Given the description of an element on the screen output the (x, y) to click on. 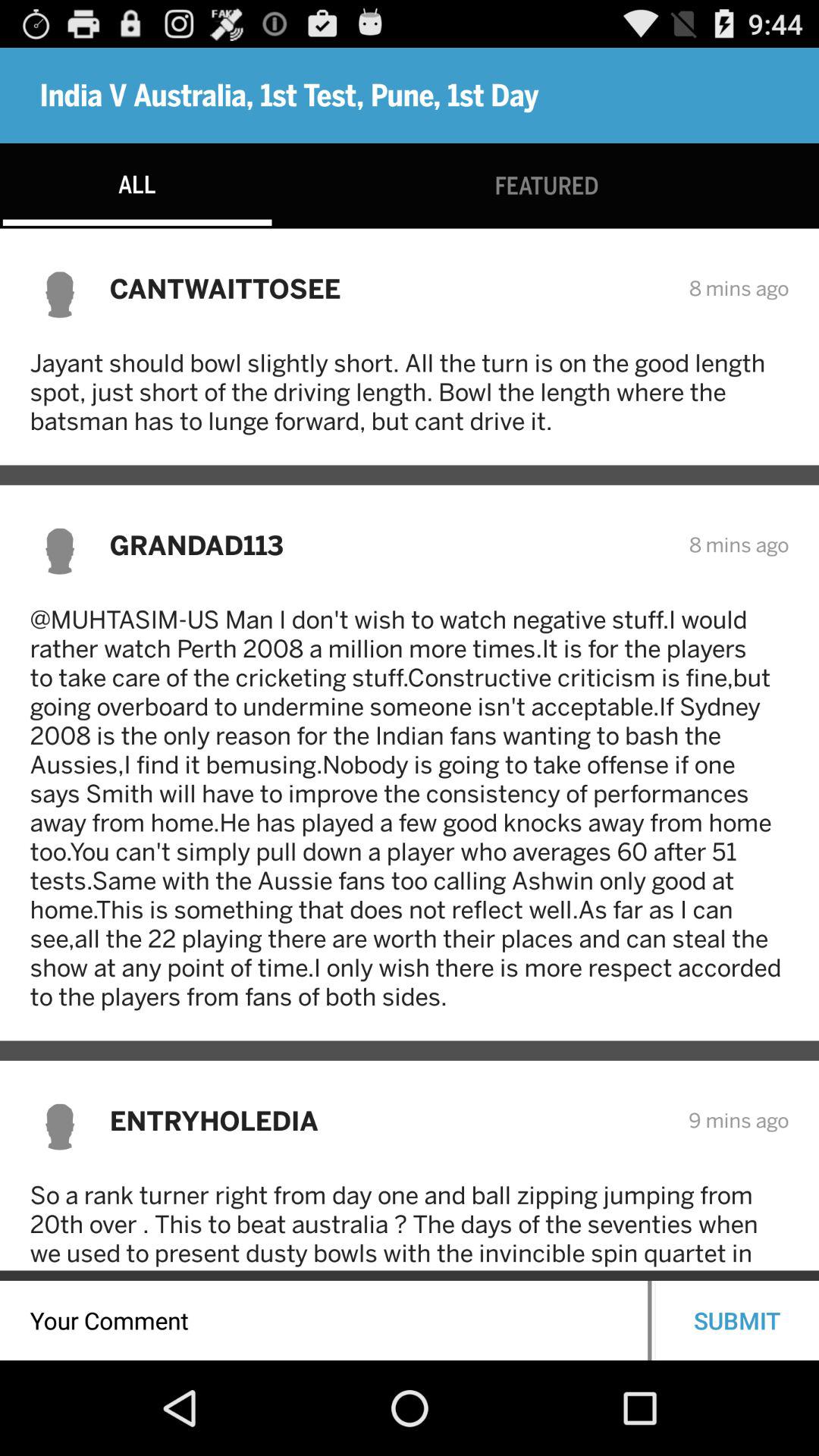
press the item next to the 8 mins ago item (389, 544)
